Given the description of an element on the screen output the (x, y) to click on. 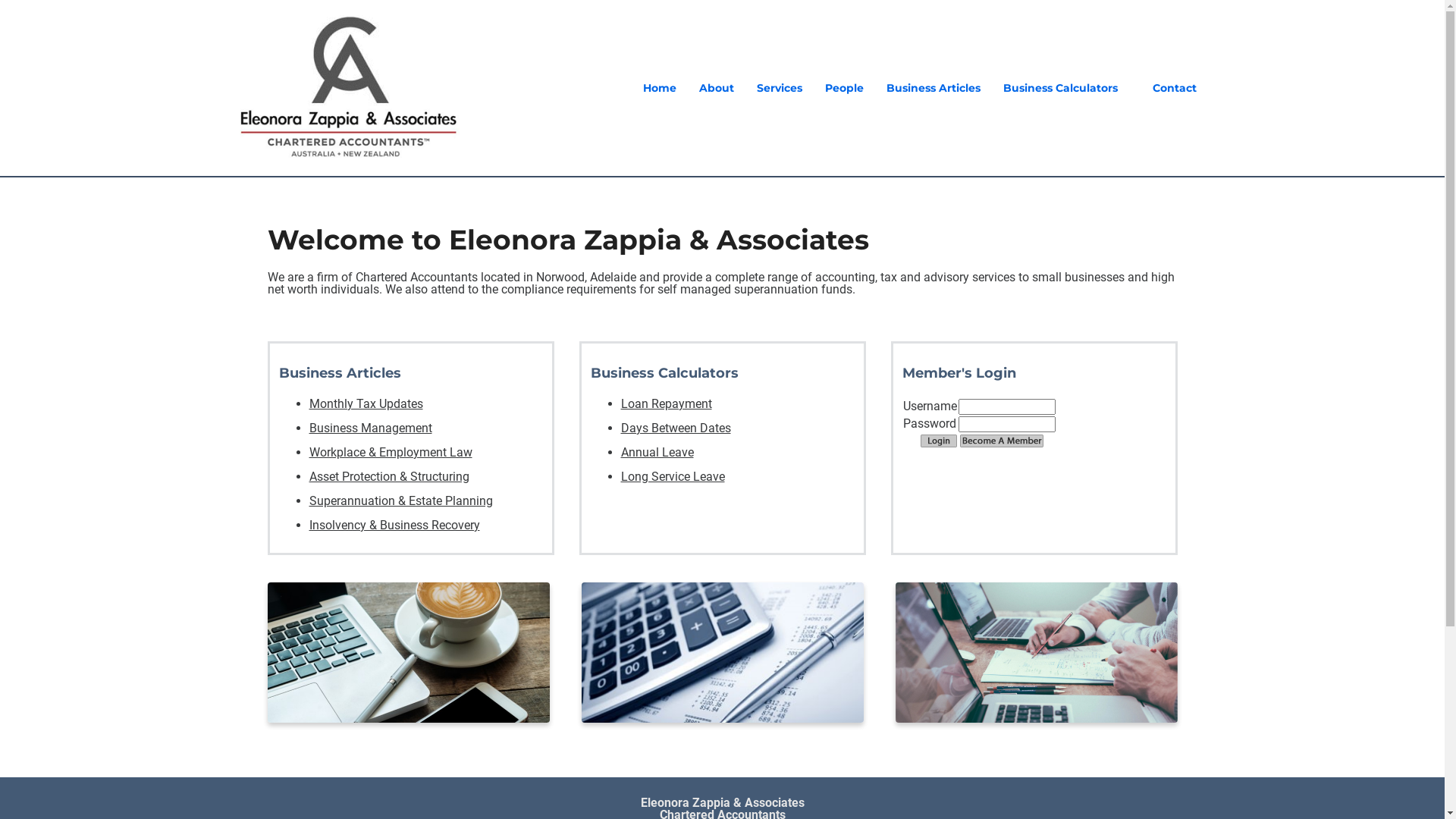
Asset Protection & Structuring Element type: text (389, 476)
Business Calculators Element type: text (1060, 87)
Insolvency & Business Recovery Element type: text (394, 524)
Long Service Leave Element type: text (672, 476)
Contact Element type: text (1174, 87)
Annual Leave Element type: text (656, 452)
About Element type: text (716, 87)
People Element type: text (844, 87)
Services Element type: text (779, 87)
Home Element type: text (659, 87)
Superannuation & Estate Planning Element type: text (400, 500)
Business Management Element type: text (370, 427)
Workplace & Employment Law Element type: text (390, 452)
Monthly Tax Updates Element type: text (366, 403)
Business Articles Element type: text (933, 87)
Days Between Dates Element type: text (675, 427)
Loan Repayment Element type: text (665, 403)
